Given the description of an element on the screen output the (x, y) to click on. 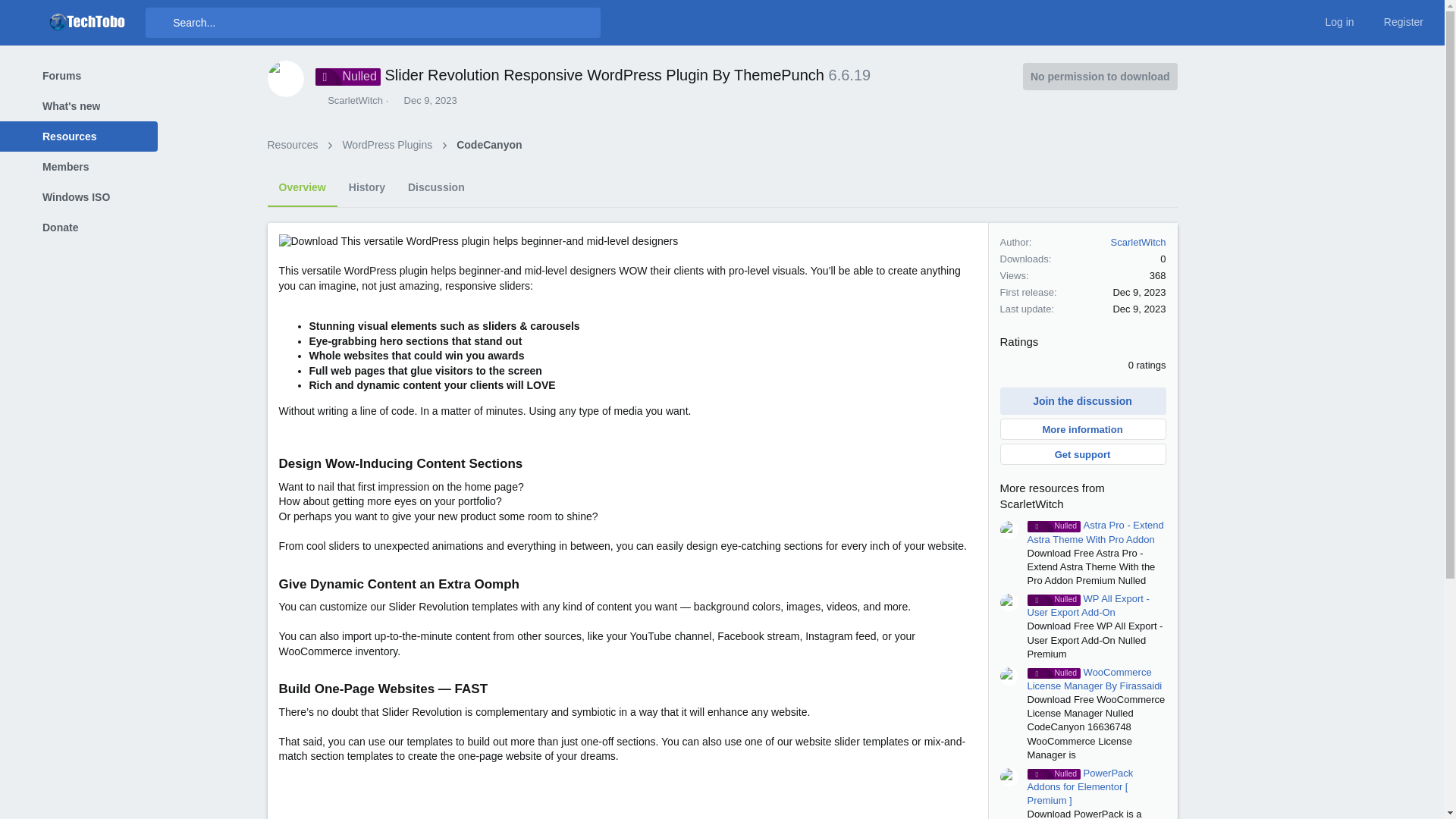
Author (319, 99)
Log in (1330, 22)
Creation date (396, 99)
Dec 9, 2023 at 9:35 AM (1139, 308)
Register (1394, 22)
Dec 9, 2023 at 9:35 AM (1139, 292)
Overview History Discussion (371, 187)
Dec 9, 2023 at 9:35 AM (430, 100)
Forums (67, 75)
What's new (67, 105)
